Given the description of an element on the screen output the (x, y) to click on. 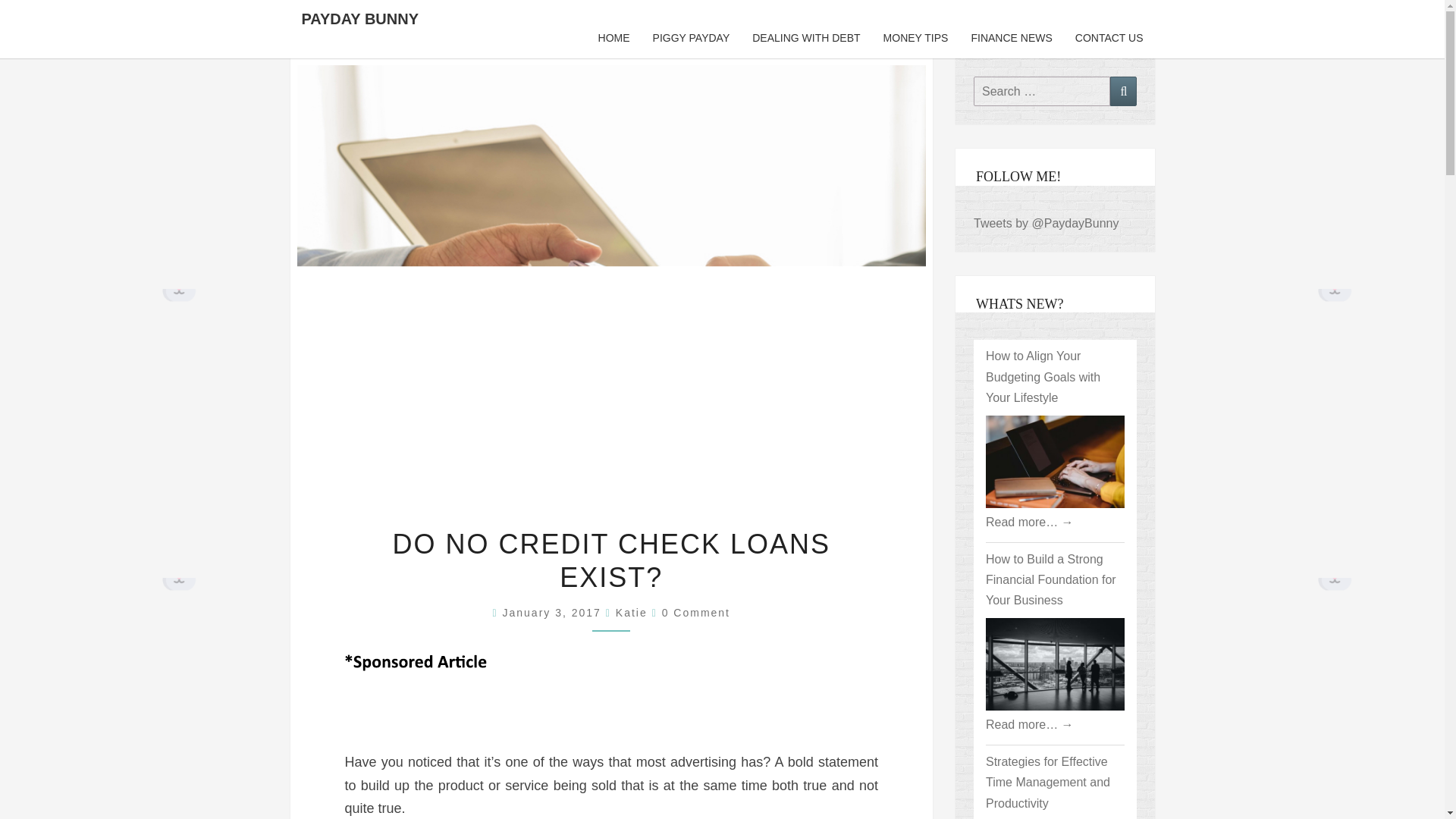
PAYDAY BUNNY (359, 18)
View all posts by Katie (631, 612)
FINANCE NEWS (1010, 38)
Search (1123, 91)
HOME (614, 38)
PIGGY PAYDAY (691, 38)
Katie (631, 612)
0 Comment (696, 612)
12:33 pm (553, 612)
January 3, 2017 (553, 612)
